Given the description of an element on the screen output the (x, y) to click on. 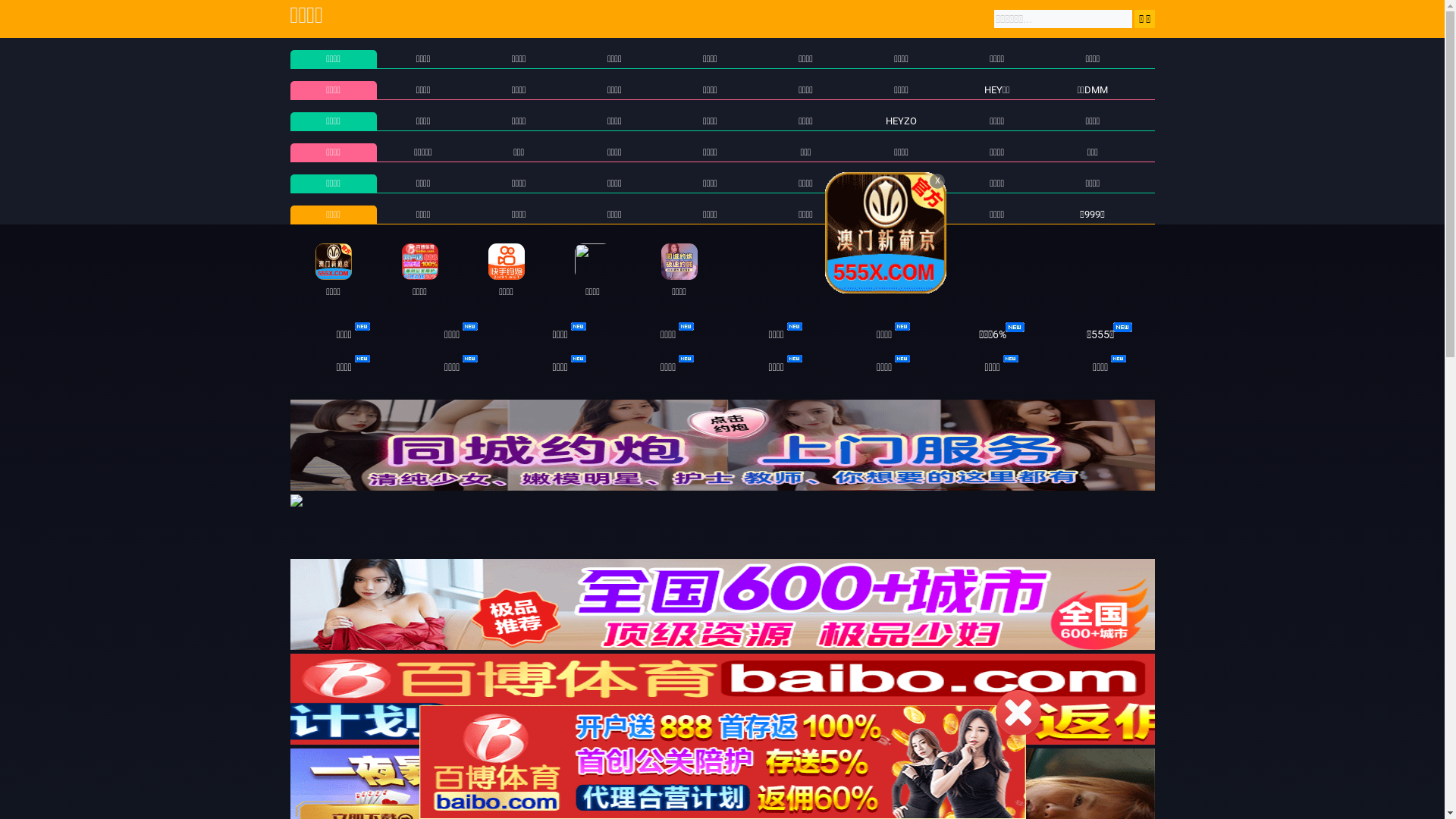
HEYZO Element type: text (900, 120)
